Given the description of an element on the screen output the (x, y) to click on. 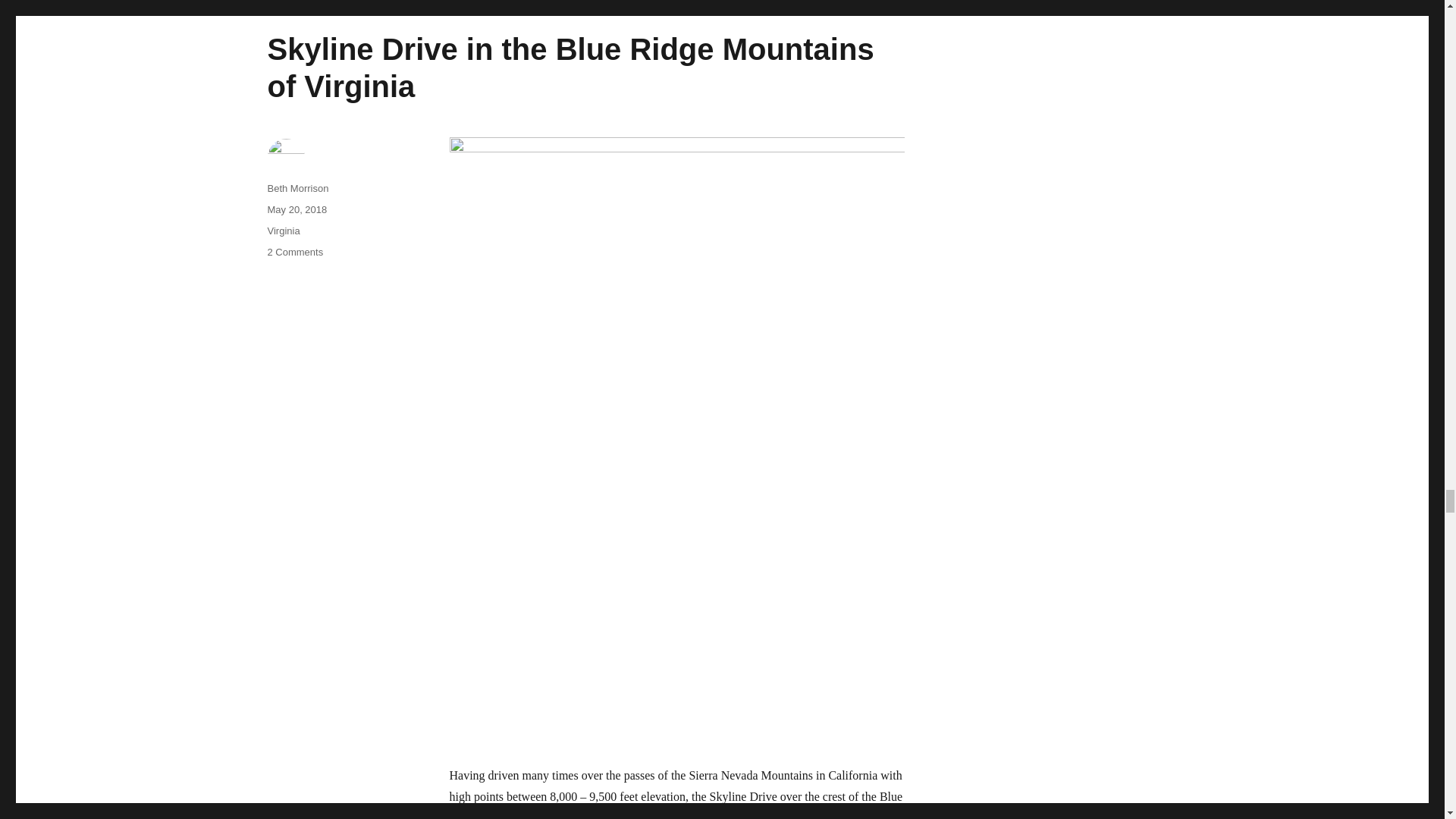
Beth Morrison (297, 188)
Skyline Drive in the Blue Ridge Mountains of Virginia (569, 67)
Virginia (282, 230)
May 20, 2018 (296, 209)
